Given the description of an element on the screen output the (x, y) to click on. 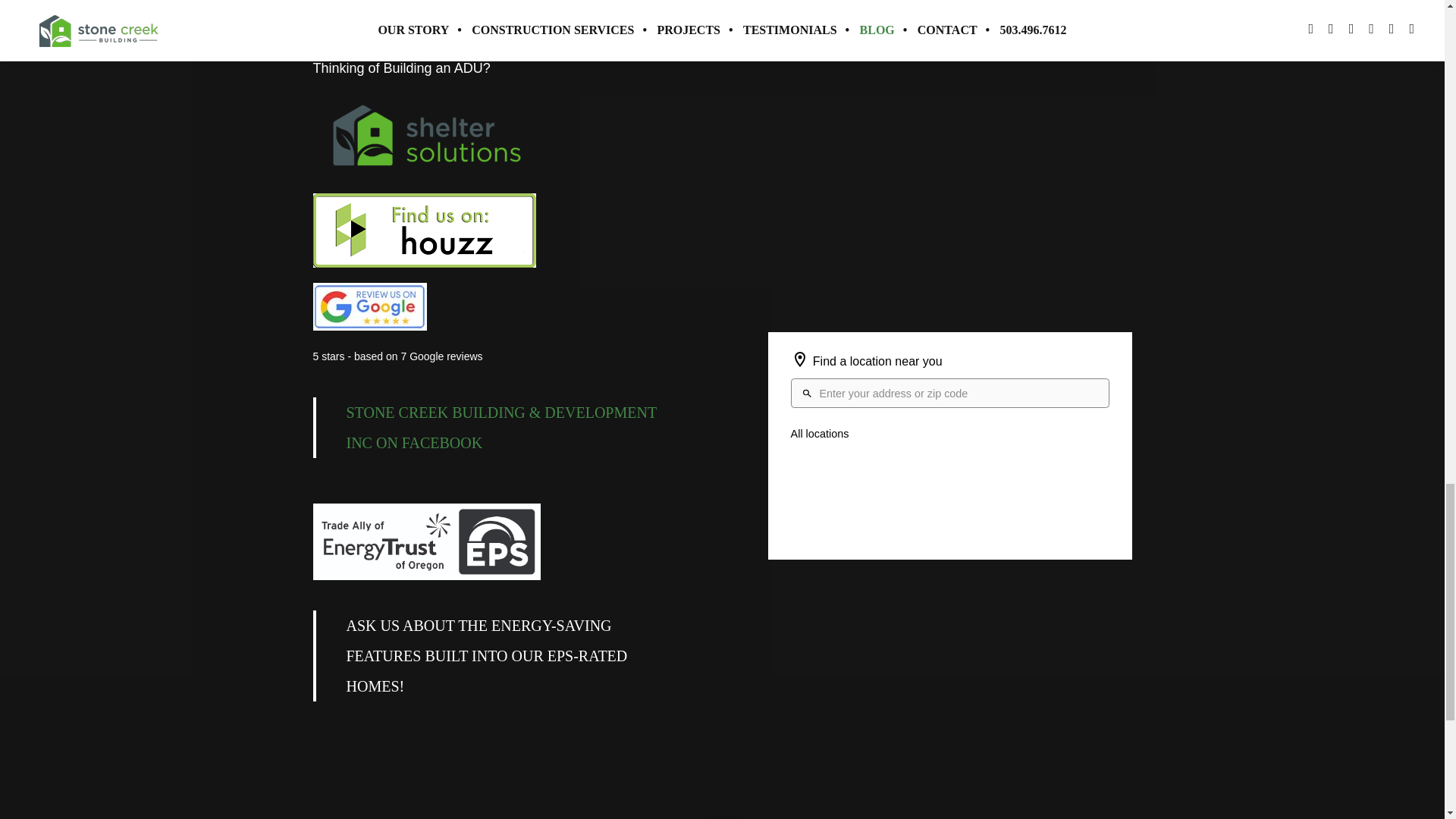
Submit (797, 10)
Review Us On Google! (369, 306)
